Given the description of an element on the screen output the (x, y) to click on. 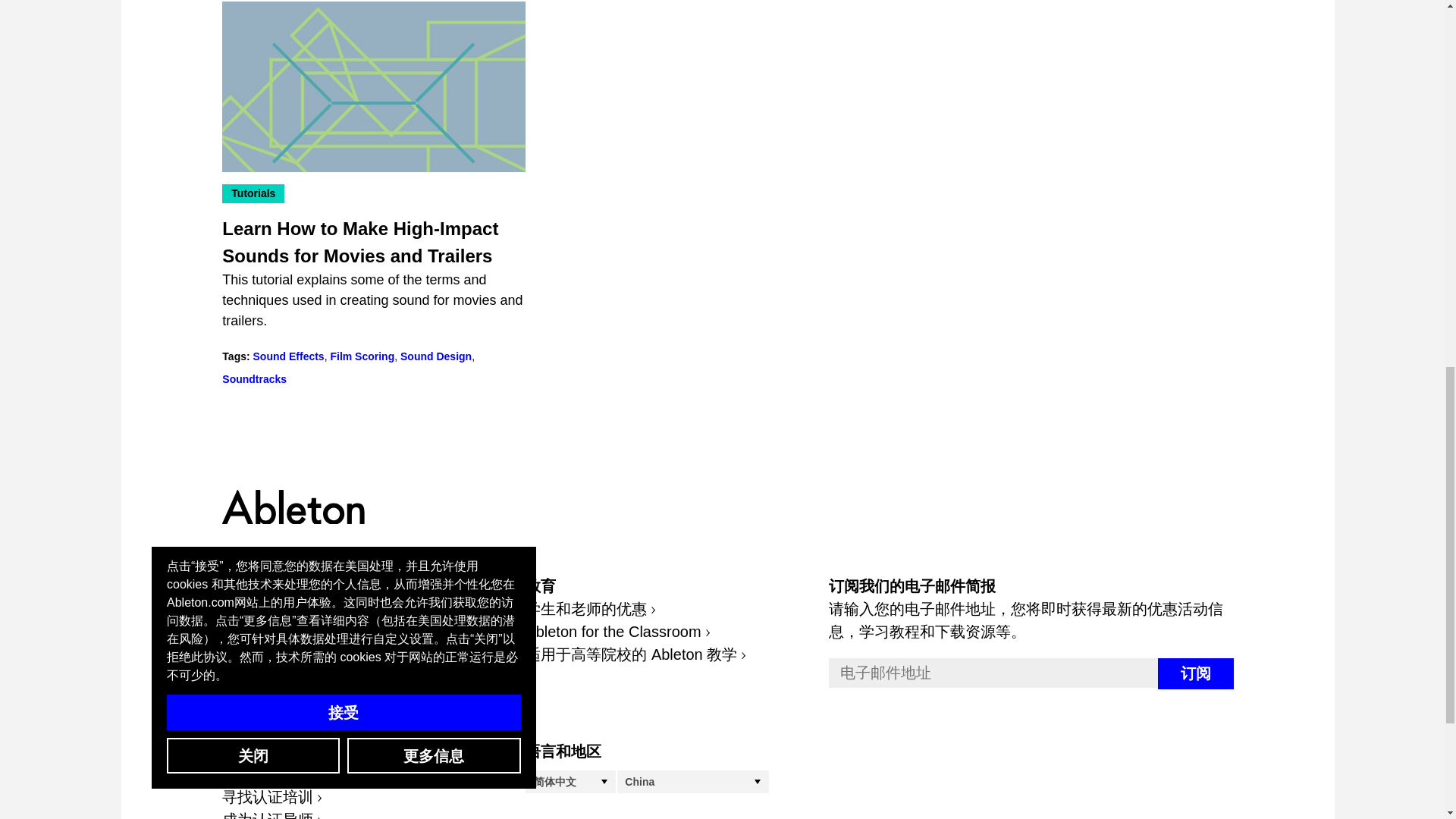
Go to TikTok (367, 666)
Go to Youtube (300, 666)
Go to Twitter (266, 666)
Go to Facebook (233, 666)
Go to Instagram (333, 666)
